Given the description of an element on the screen output the (x, y) to click on. 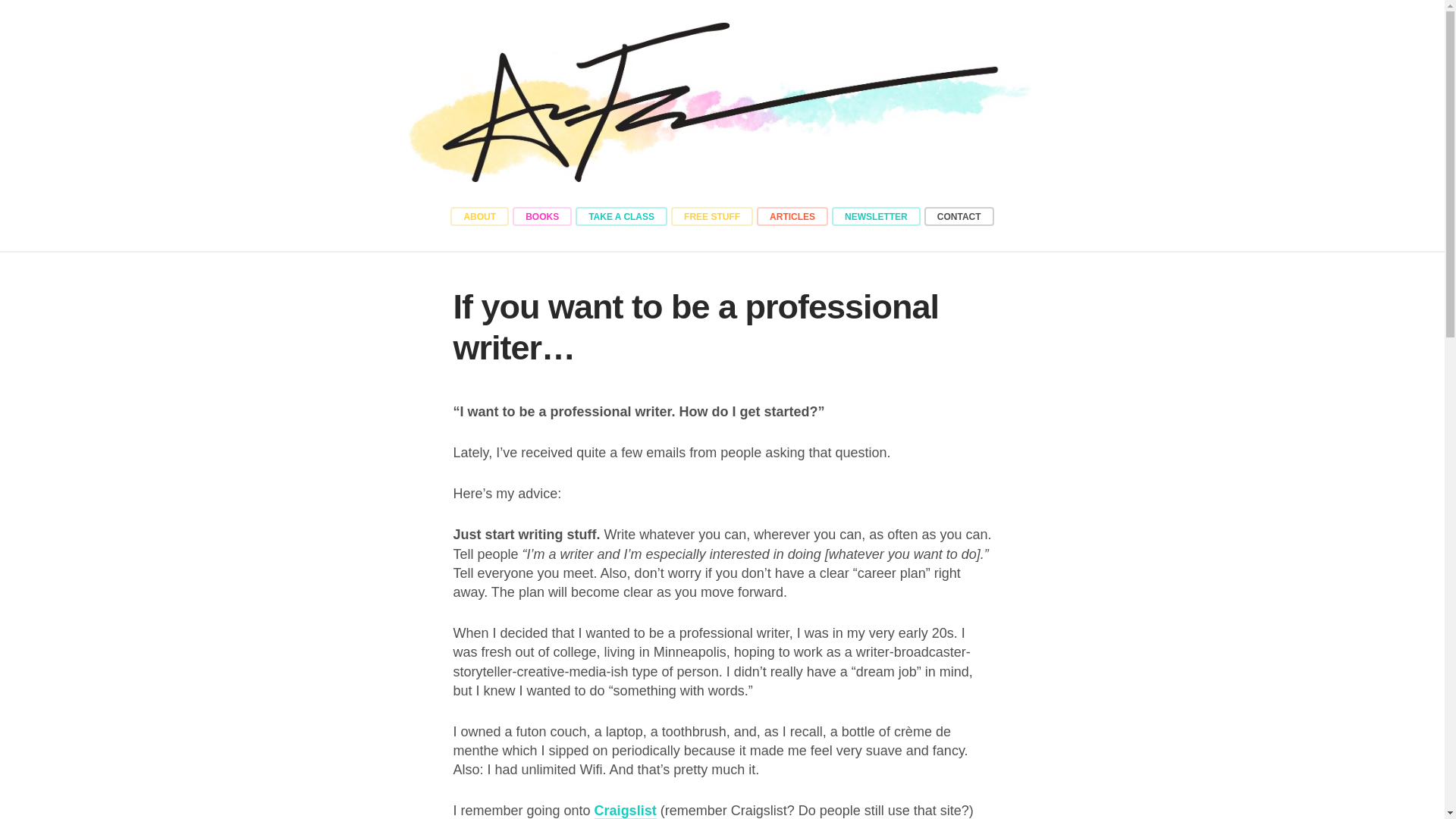
ARTICLES (792, 216)
TAKE A CLASS (620, 216)
ABOUT (478, 216)
NEWSLETTER (875, 216)
BOOKS (542, 216)
FREE STUFF (711, 216)
CONTACT (959, 216)
NEWSLETTER (875, 216)
Craigslist (625, 811)
